Given the description of an element on the screen output the (x, y) to click on. 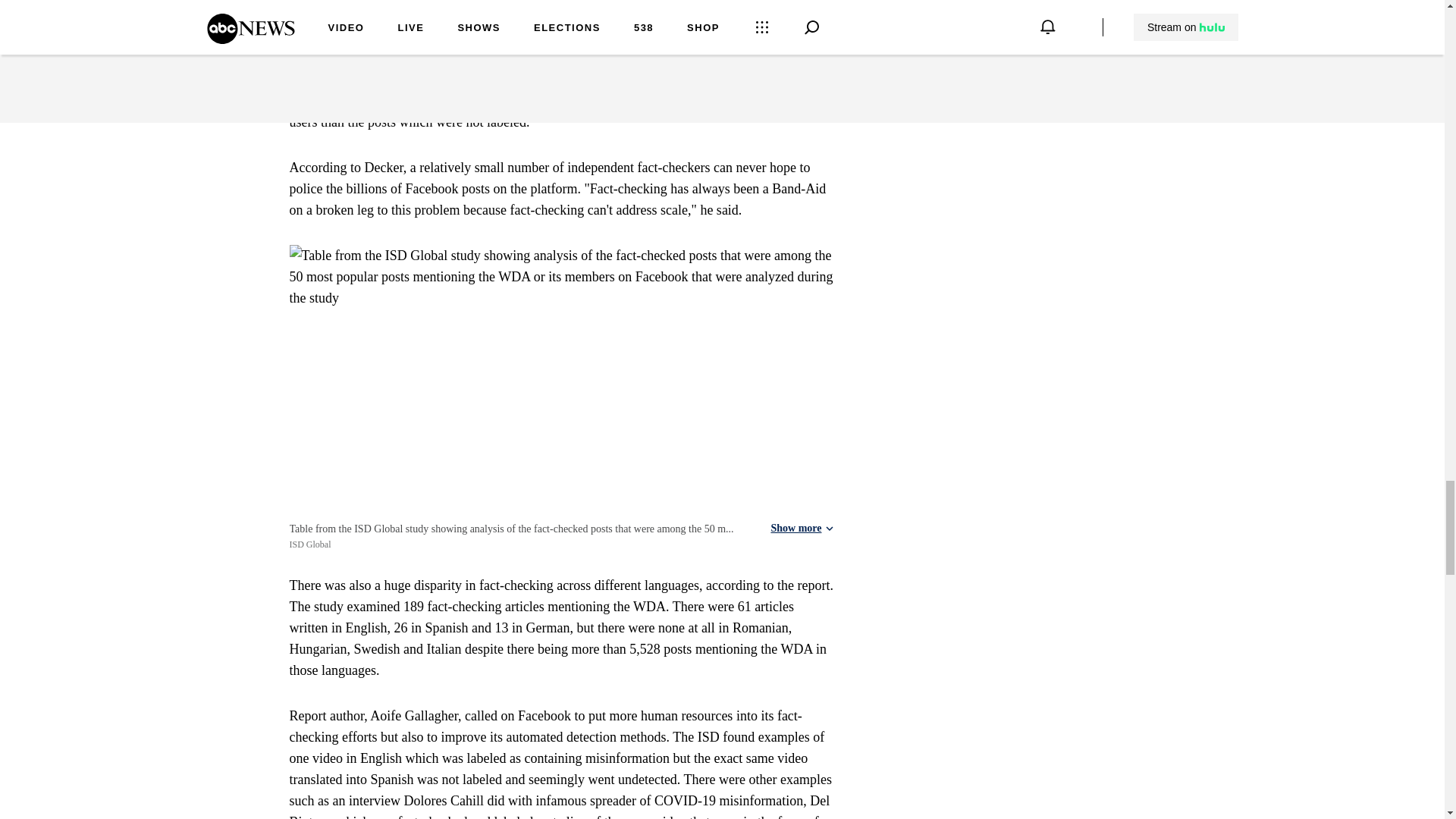
Show more (801, 528)
